Given the description of an element on the screen output the (x, y) to click on. 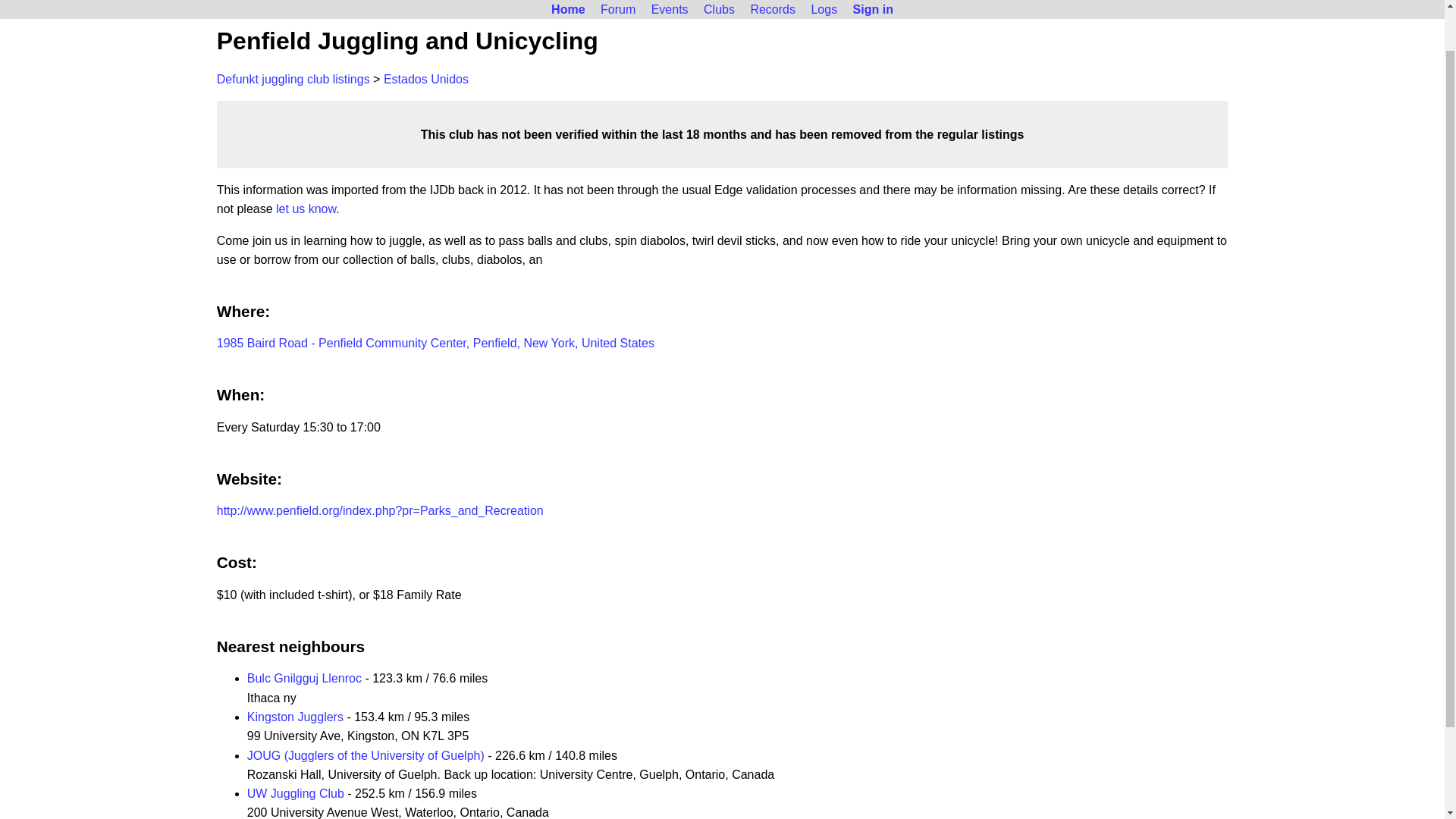
Bulc Gnilgguj Llenroc (304, 677)
Kingston Jugglers (295, 716)
Defunkt juggling club listings (292, 78)
UW Juggling Club (295, 793)
Estados Unidos (426, 78)
let us know (306, 208)
